Given the description of an element on the screen output the (x, y) to click on. 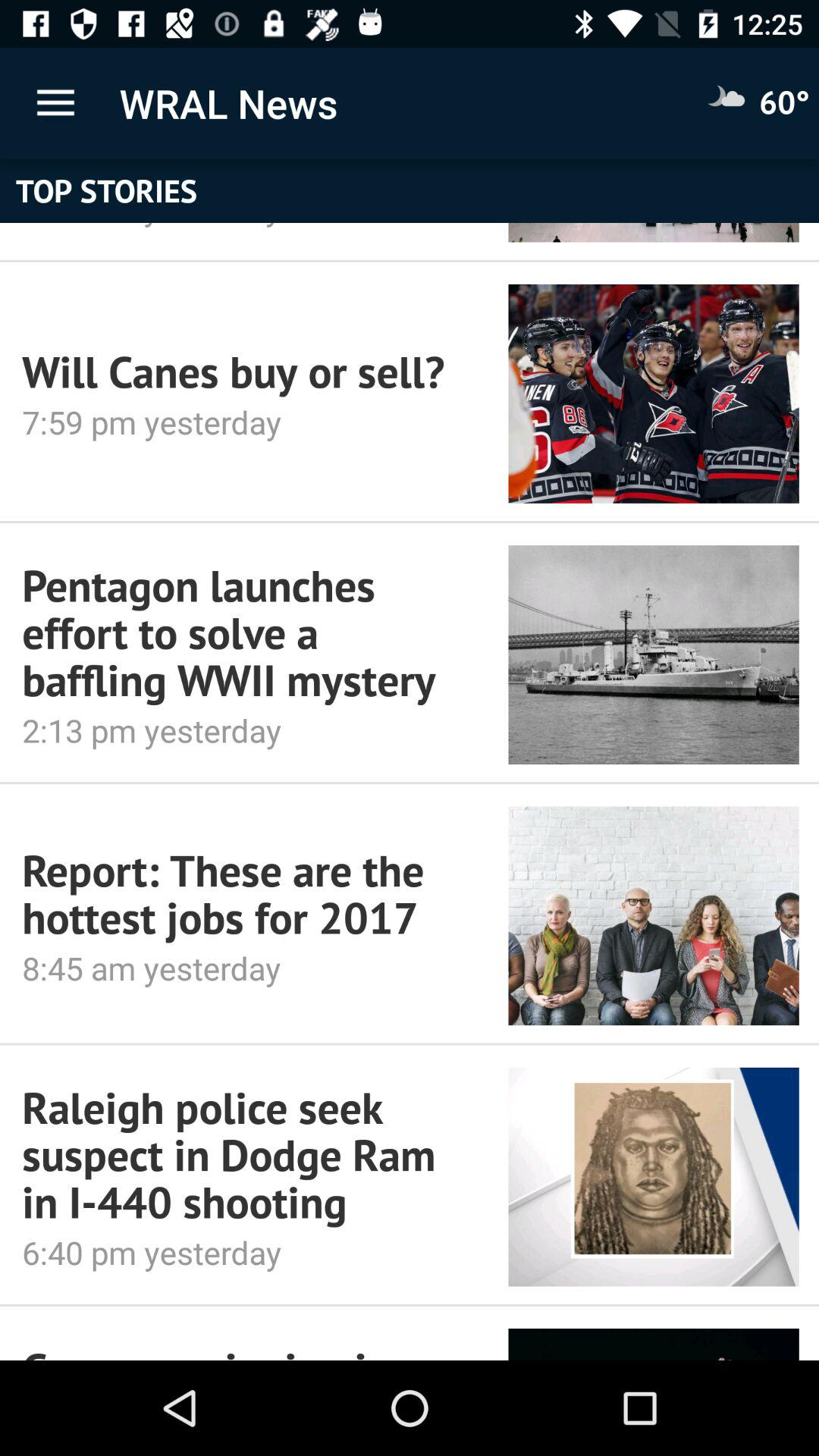
open 8 45 am item (244, 967)
